Given the description of an element on the screen output the (x, y) to click on. 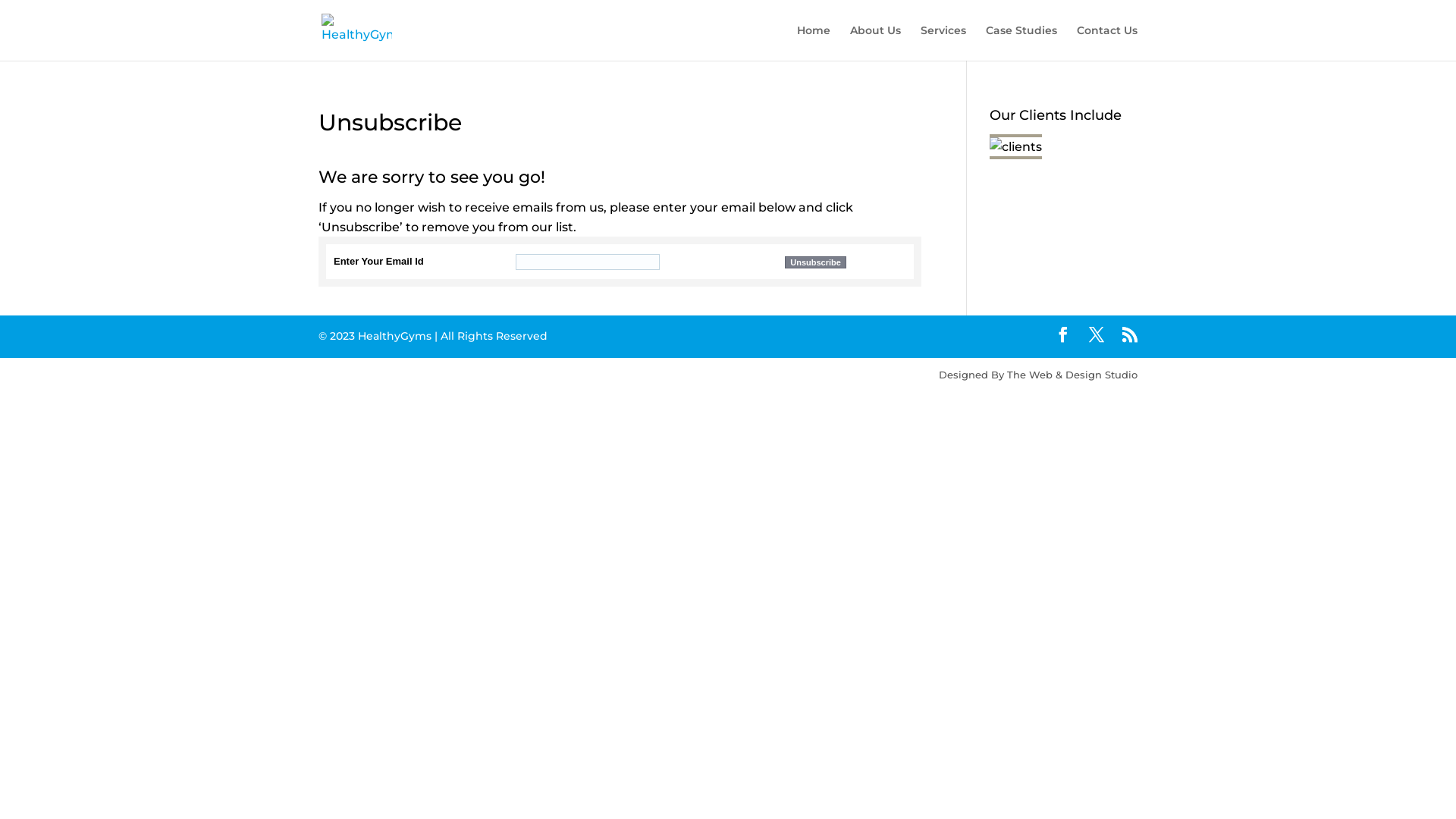
Designed By The Web & Design Studio Element type: text (727, 374)
Services Element type: text (943, 42)
Case Studies Element type: text (1021, 42)
Unsubscribe Element type: text (815, 262)
Contact Us Element type: text (1106, 42)
About Us Element type: text (875, 42)
Home Element type: text (813, 42)
